Given the description of an element on the screen output the (x, y) to click on. 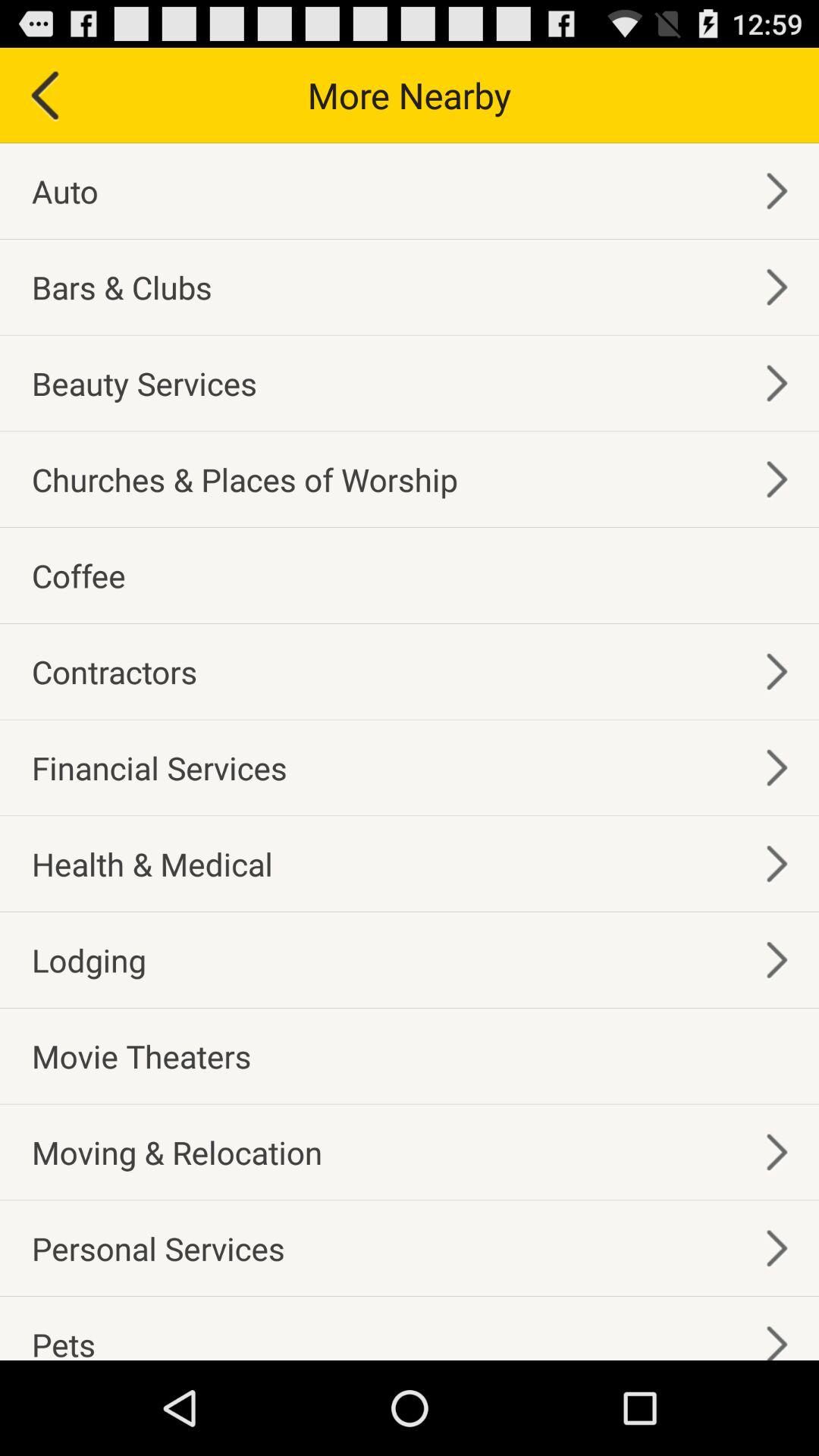
scroll to beauty services item (144, 382)
